Given the description of an element on the screen output the (x, y) to click on. 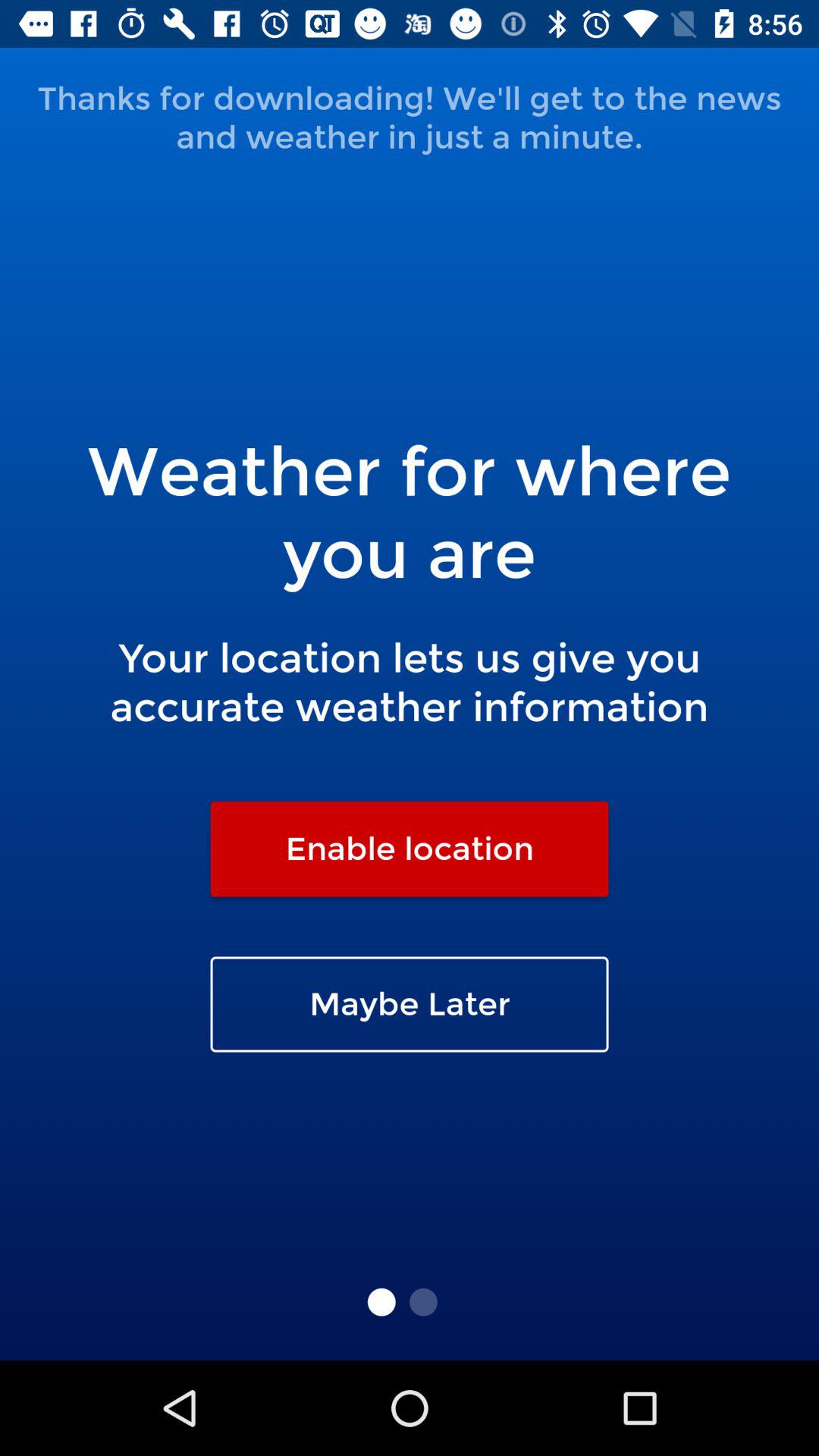
jump to maybe later icon (409, 1004)
